Given the description of an element on the screen output the (x, y) to click on. 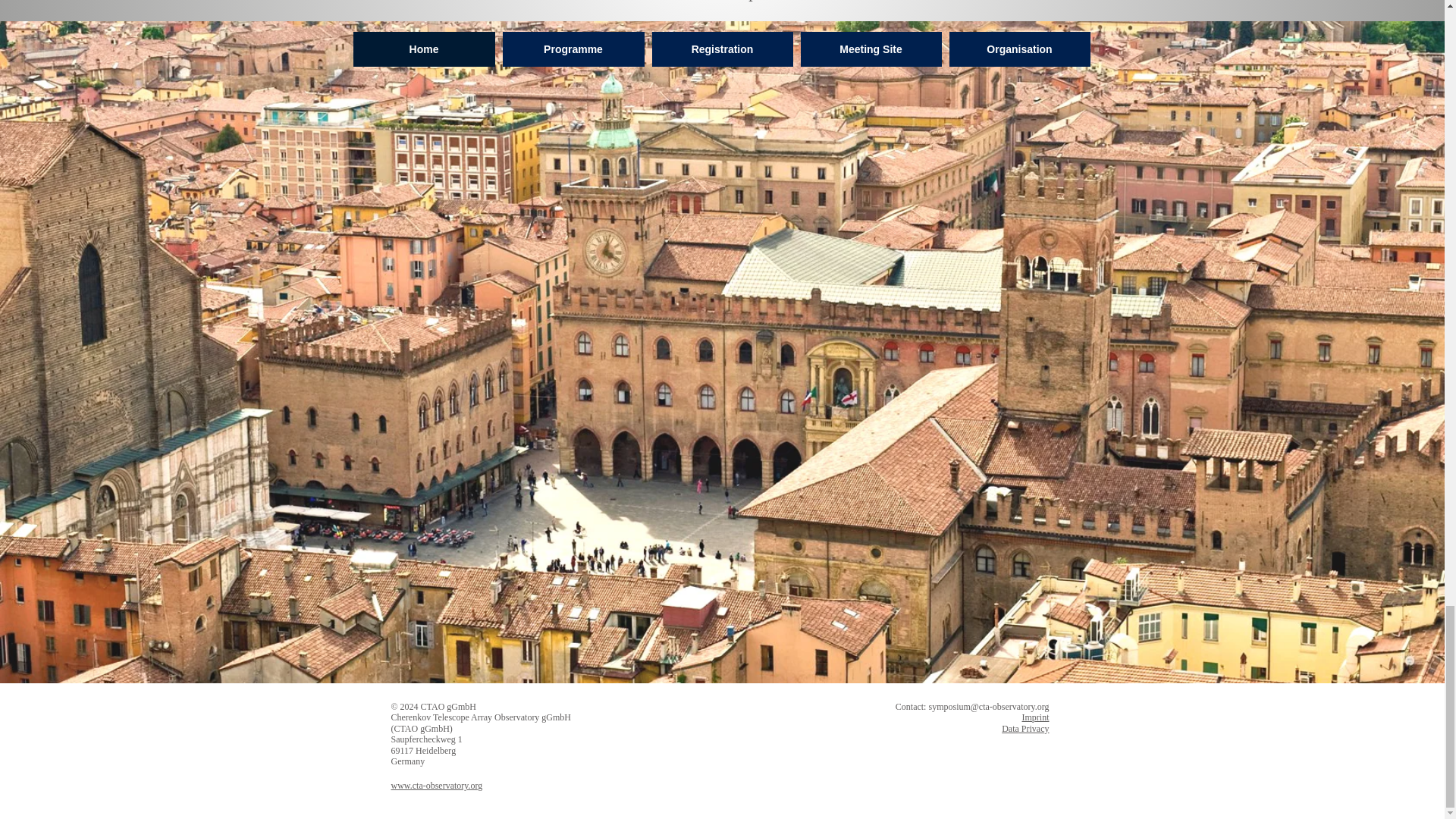
Imprint (1035, 716)
Data (1010, 728)
www.cta-observatory.org (437, 785)
Privacy (1034, 728)
